Given the description of an element on the screen output the (x, y) to click on. 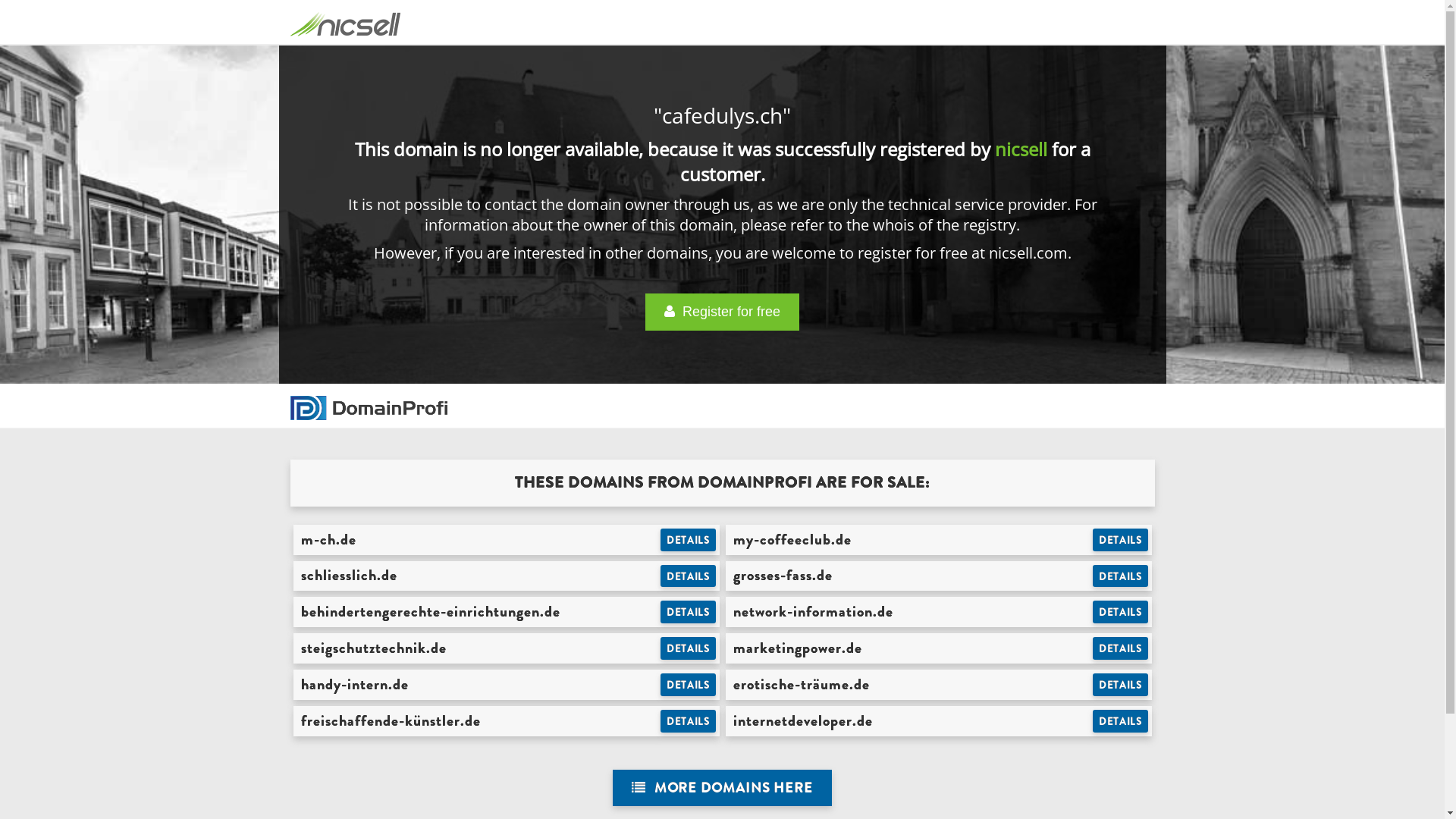
DETAILS Element type: text (1120, 539)
DETAILS Element type: text (687, 648)
DETAILS Element type: text (687, 684)
DETAILS Element type: text (1120, 720)
DETAILS Element type: text (687, 611)
DETAILS Element type: text (1120, 684)
  Register for free Element type: text (722, 311)
nicsell Element type: text (1020, 148)
DETAILS Element type: text (687, 720)
DETAILS Element type: text (687, 539)
  MORE DOMAINS HERE Element type: text (721, 787)
DETAILS Element type: text (687, 575)
DETAILS Element type: text (1120, 575)
DETAILS Element type: text (1120, 648)
DETAILS Element type: text (1120, 611)
